Given the description of an element on the screen output the (x, y) to click on. 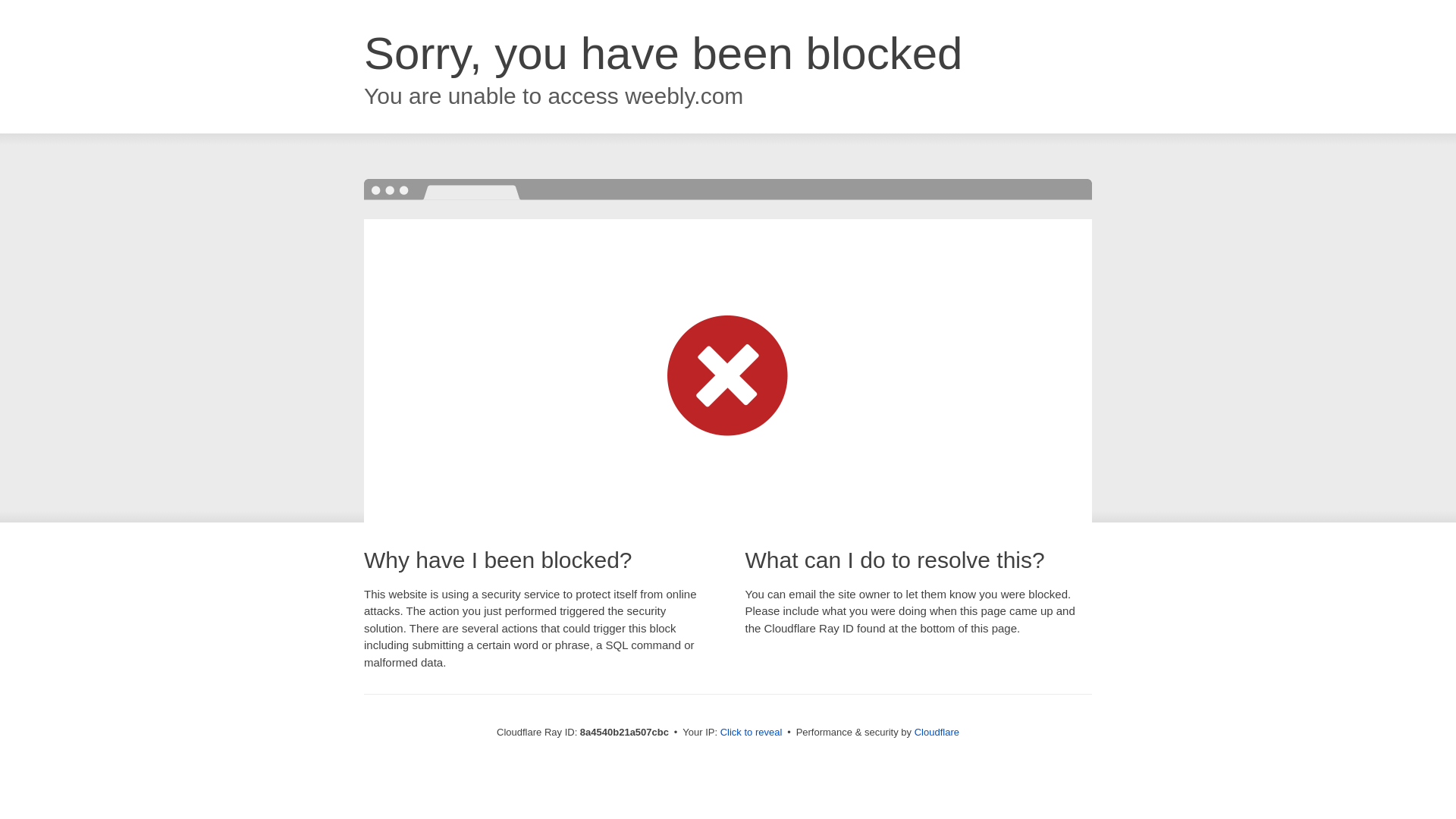
Click to reveal (751, 732)
Cloudflare (936, 731)
